Given the description of an element on the screen output the (x, y) to click on. 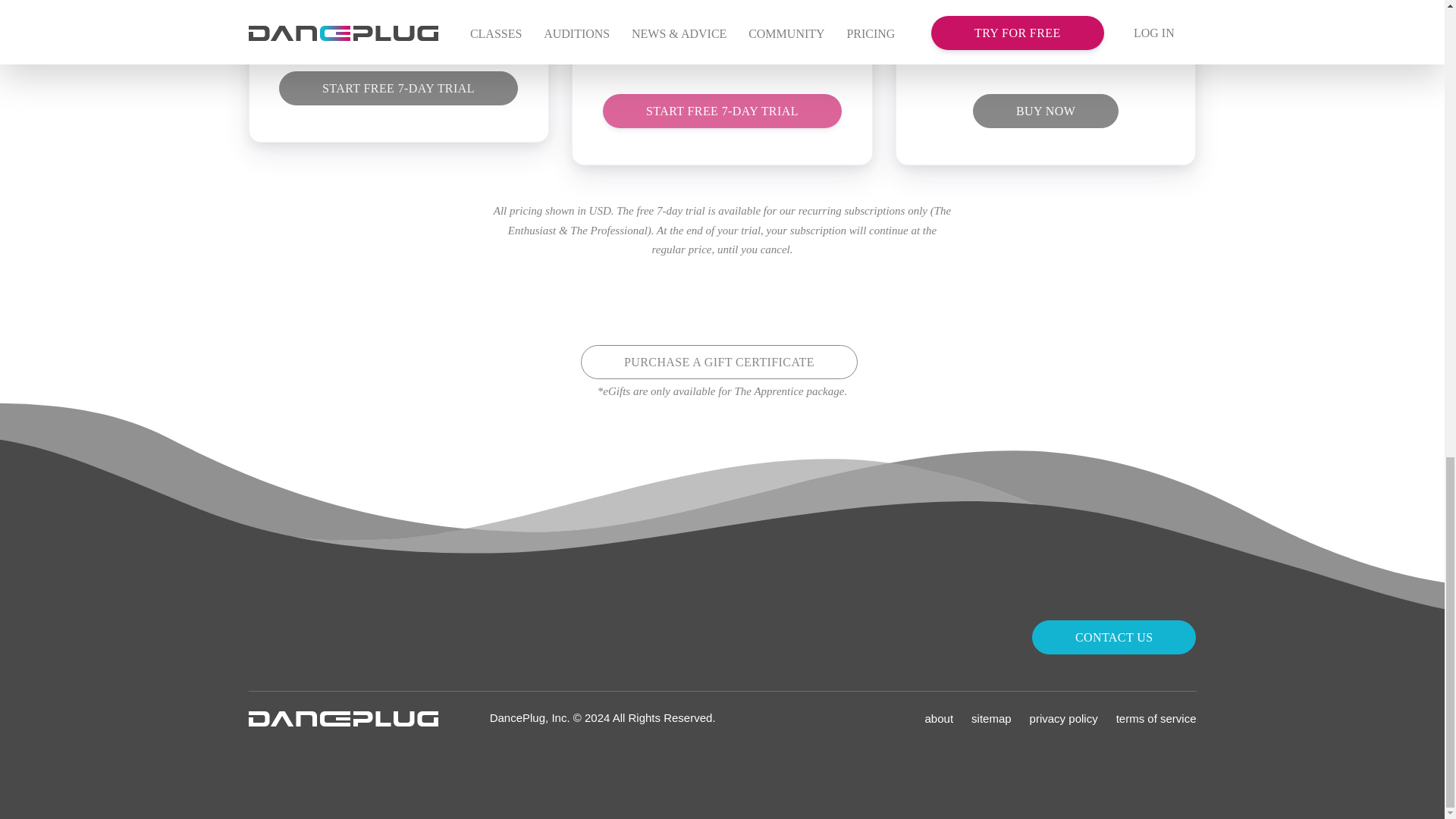
Follow us on Instagram (260, 635)
Subscribe to our Youtube Channel (320, 635)
Follow us on Twitter (290, 635)
Like us on Facebook (351, 635)
Join us on LinkedIn (381, 635)
